Given the description of an element on the screen output the (x, y) to click on. 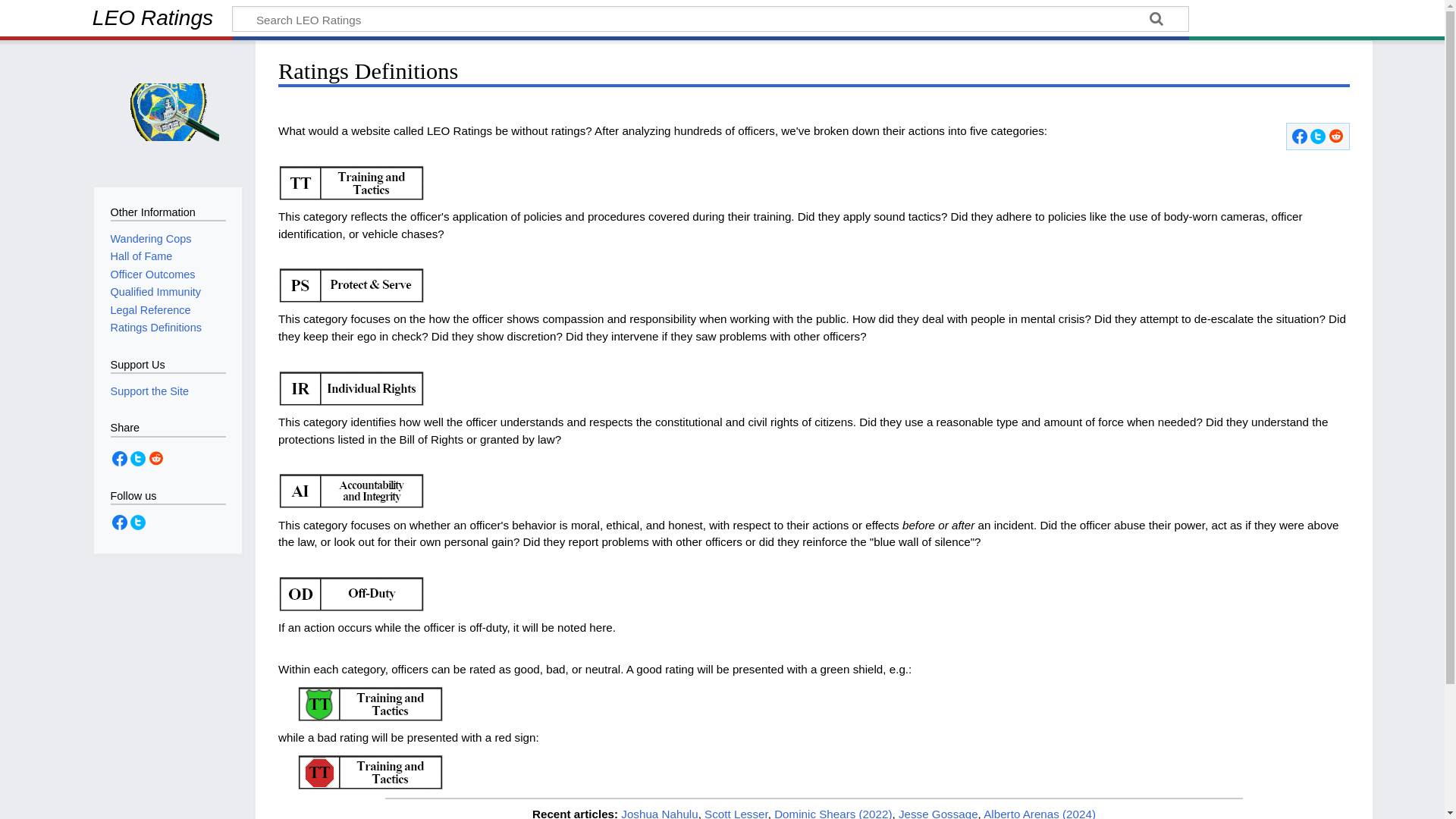
Ratings Definitions (156, 327)
Search (1155, 21)
Joshua Nahulu (659, 813)
Search (1155, 21)
Hall of Fame (141, 256)
Jesse Gossage (938, 813)
Support the Site (149, 390)
Training and Tactics (351, 181)
Share on Facebook (1299, 134)
Go (1155, 21)
